Given the description of an element on the screen output the (x, y) to click on. 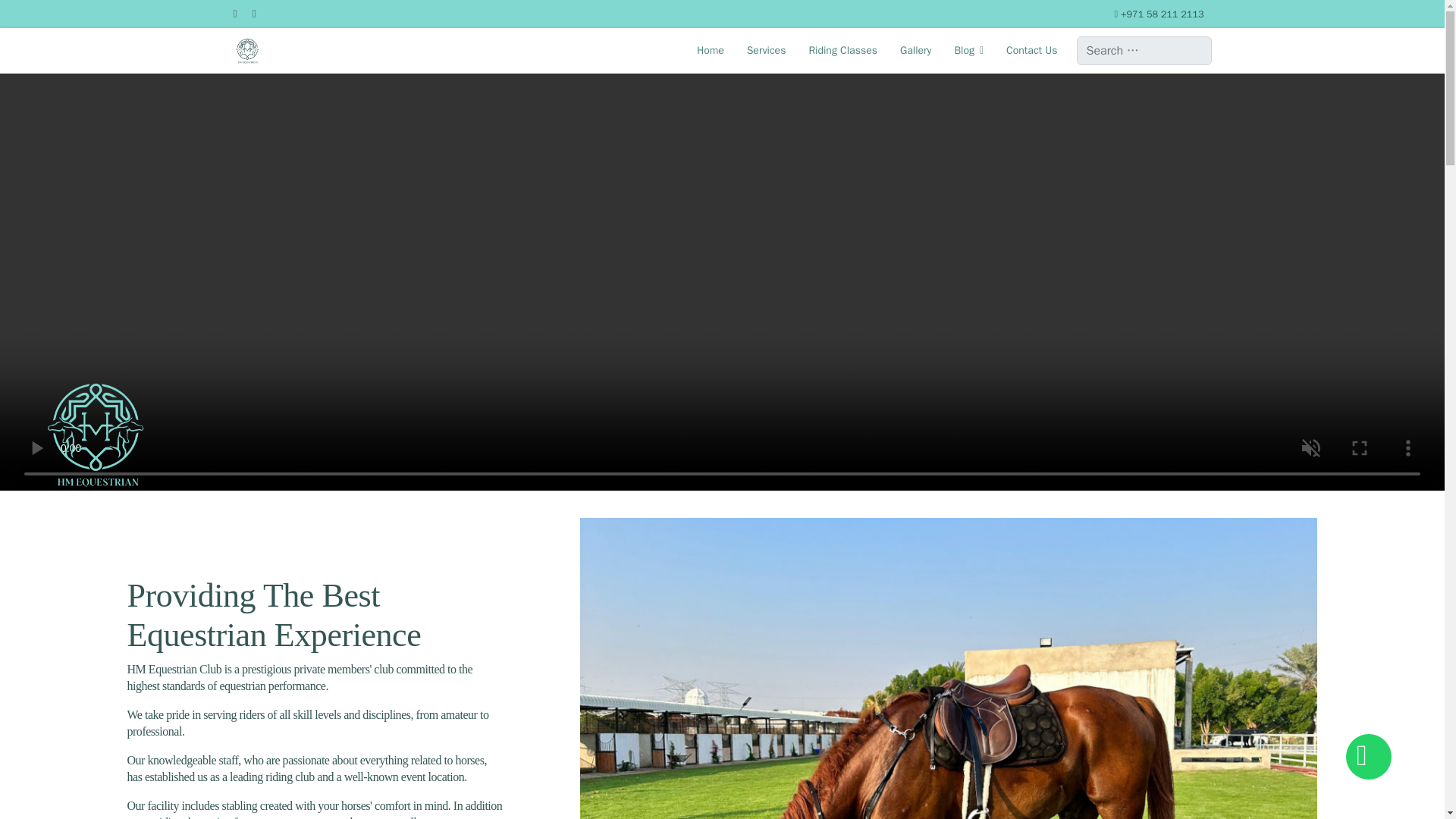
Home (710, 50)
Blog (968, 50)
Contact Us (1025, 50)
Gallery (915, 50)
Riding Classes (842, 50)
Services (766, 50)
